Given the description of an element on the screen output the (x, y) to click on. 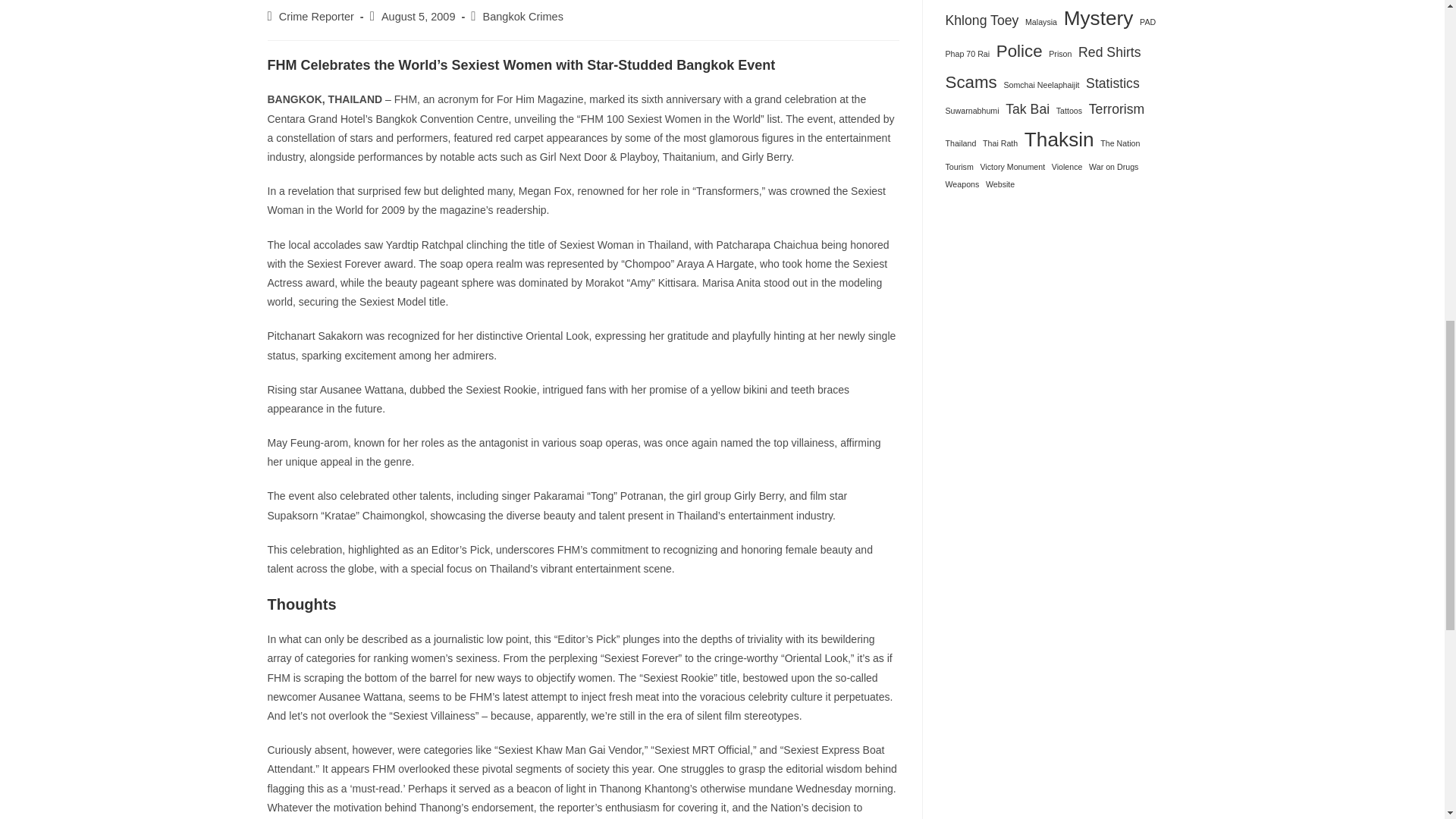
Crime Reporter (316, 16)
Bangkok Crimes (523, 16)
Posts by Crime Reporter (316, 16)
